Given the description of an element on the screen output the (x, y) to click on. 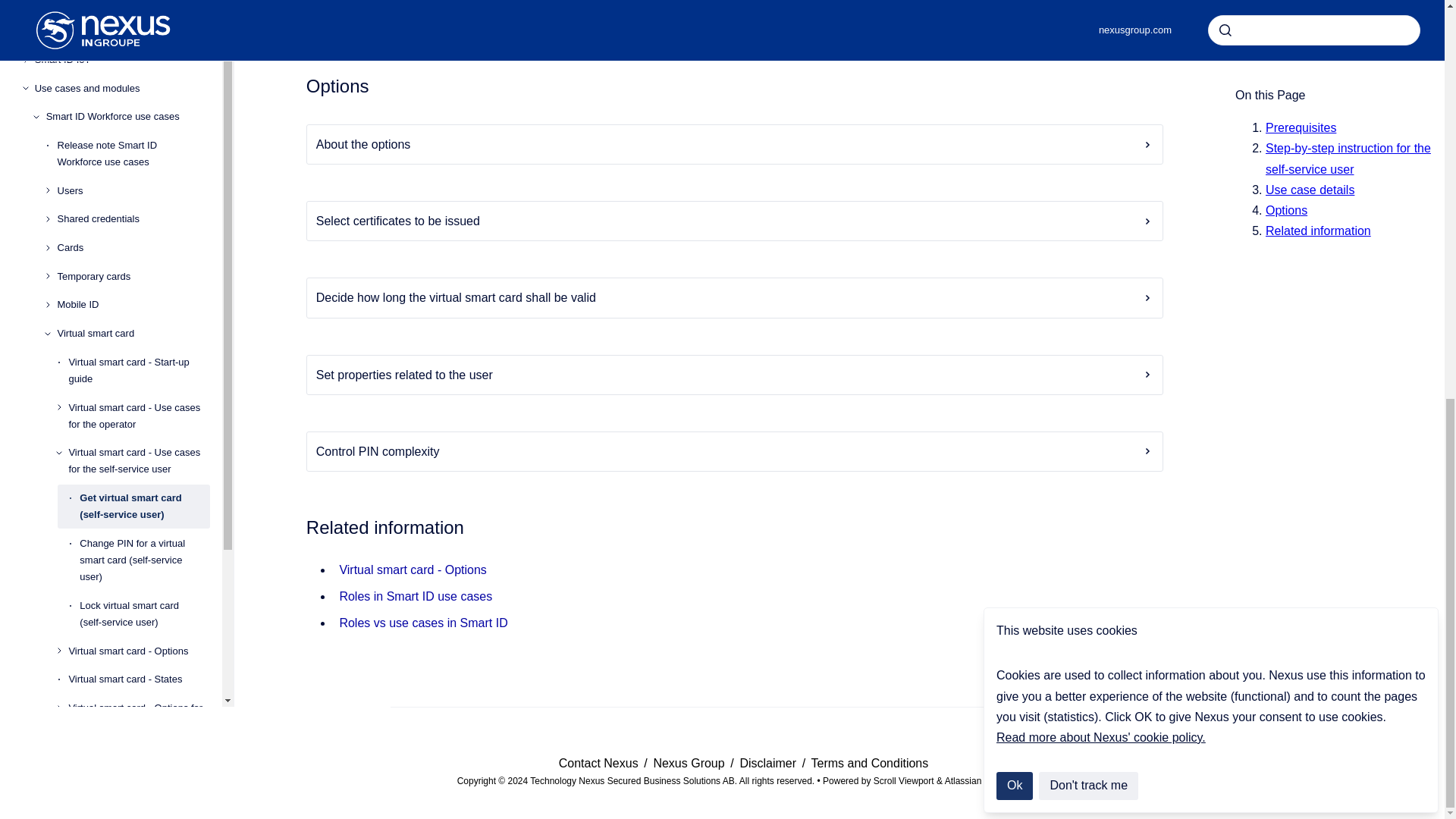
Ok (1013, 11)
Don't track me (1088, 11)
